Given the description of an element on the screen output the (x, y) to click on. 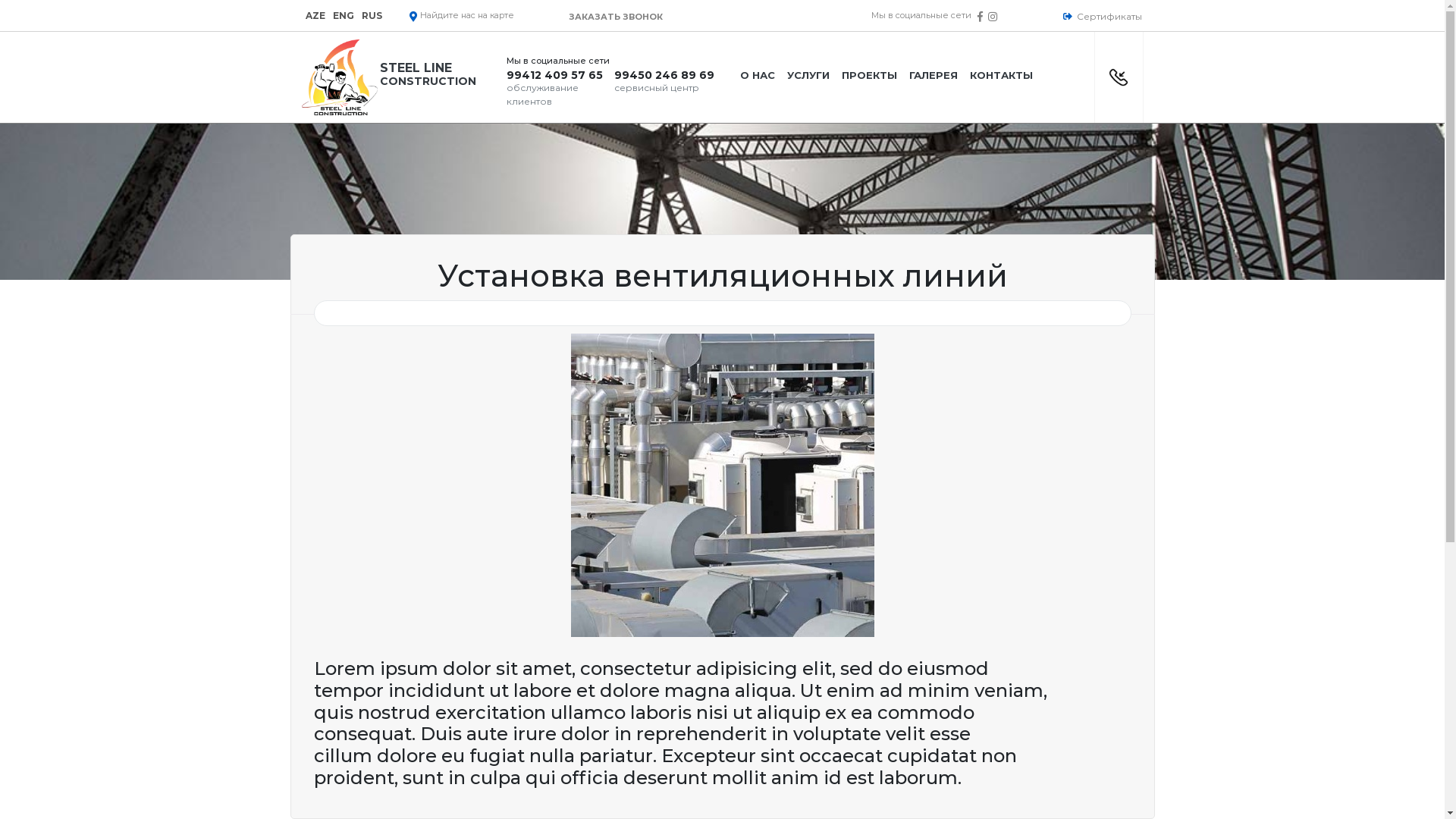
STEEL LINE
CONSTRUCTION Element type: text (397, 76)
RUS Element type: text (370, 15)
AZE Element type: text (314, 15)
ENG Element type: text (342, 15)
